Given the description of an element on the screen output the (x, y) to click on. 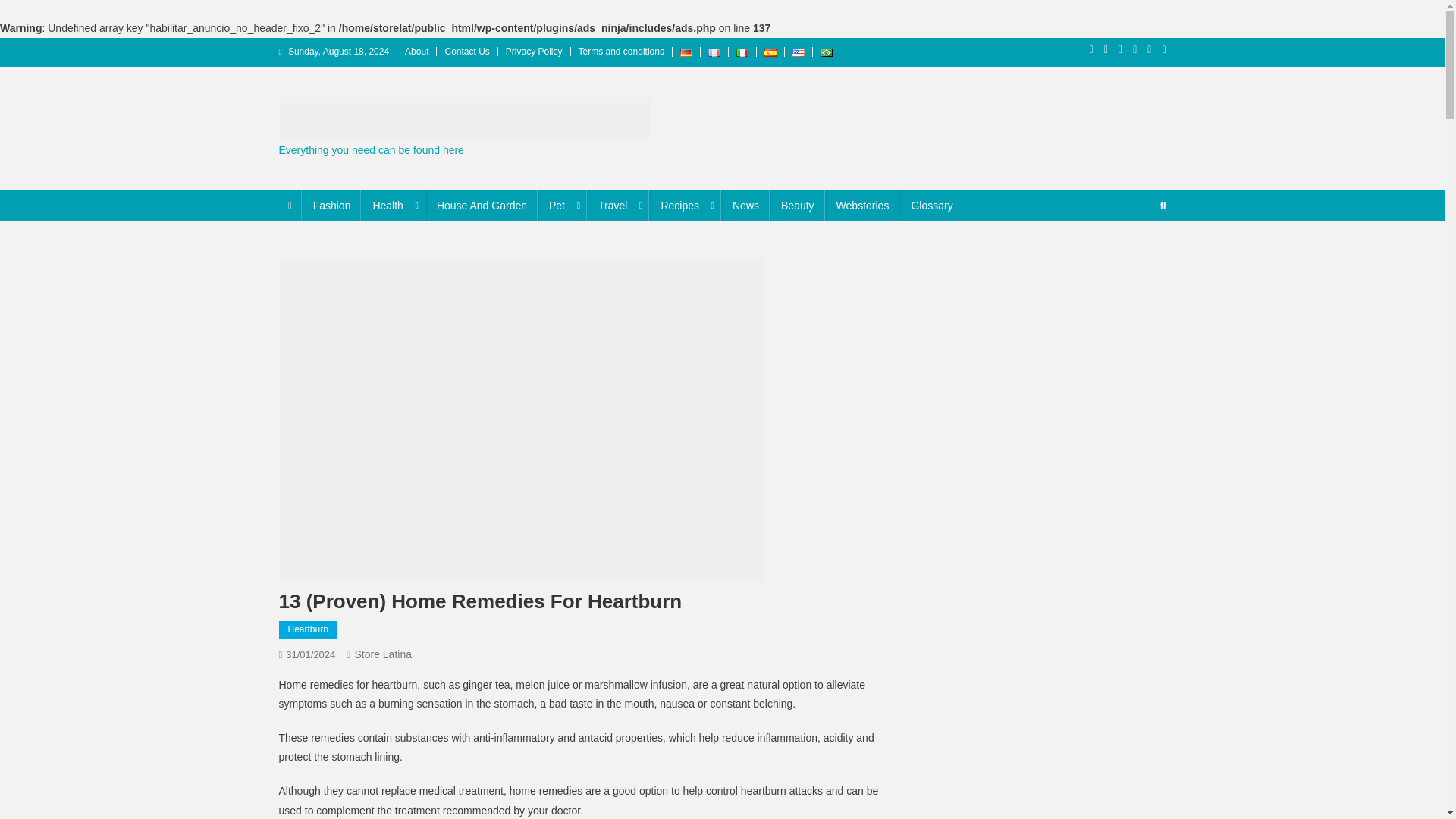
Health (392, 205)
Terms and conditions (620, 50)
Privacy Policy (533, 50)
About (416, 50)
Contact Us (466, 50)
Fashion (331, 205)
